Given the description of an element on the screen output the (x, y) to click on. 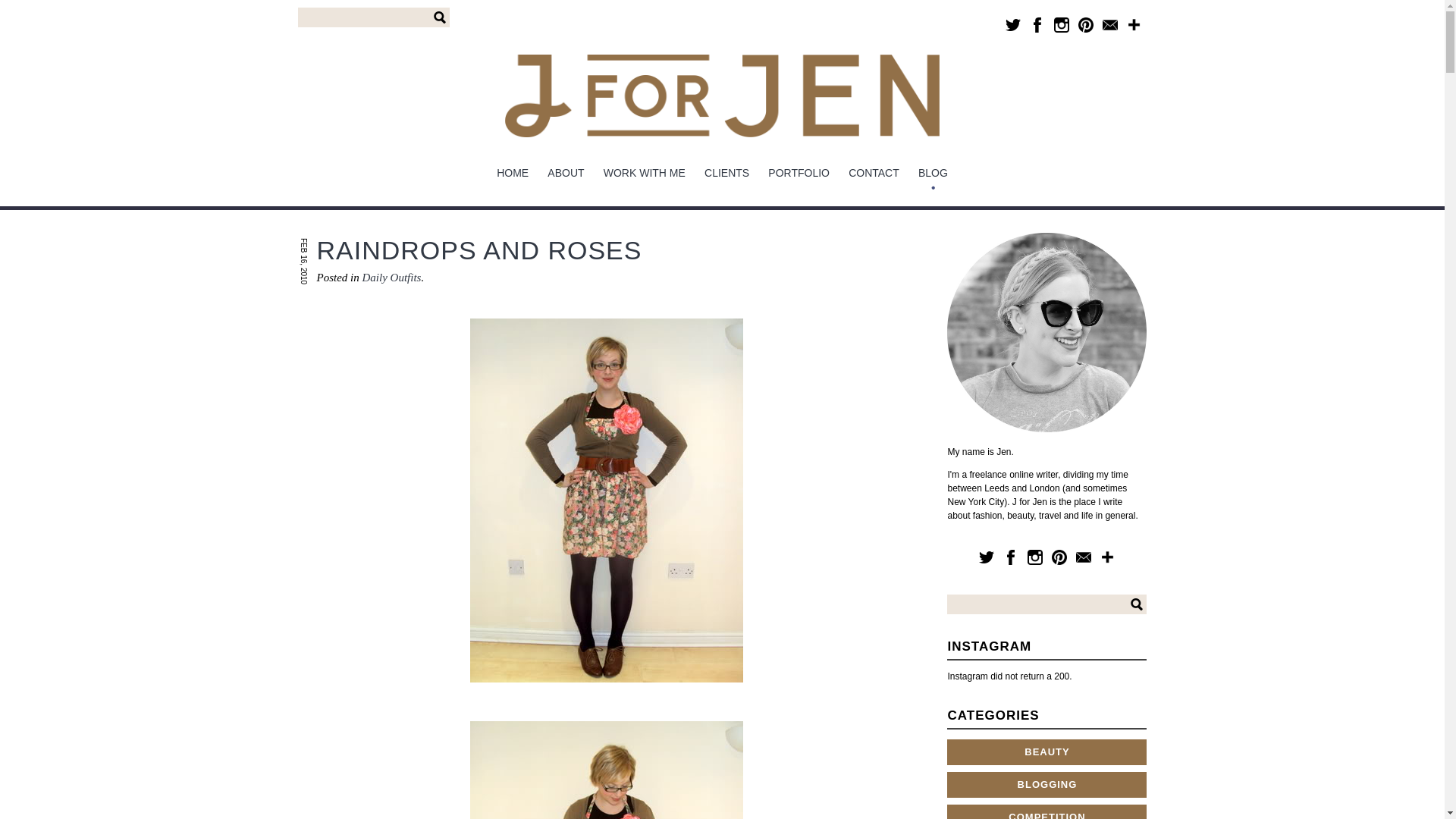
PORTFOLIO (799, 173)
ABOUT (566, 173)
HOME (513, 173)
BLOG (932, 173)
CONTACT (874, 173)
Daily Outfits (392, 277)
Raindrops and roses (479, 249)
RAINDROPS AND ROSES (479, 249)
CLIENTS (727, 173)
WORK WITH ME (644, 173)
